Given the description of an element on the screen output the (x, y) to click on. 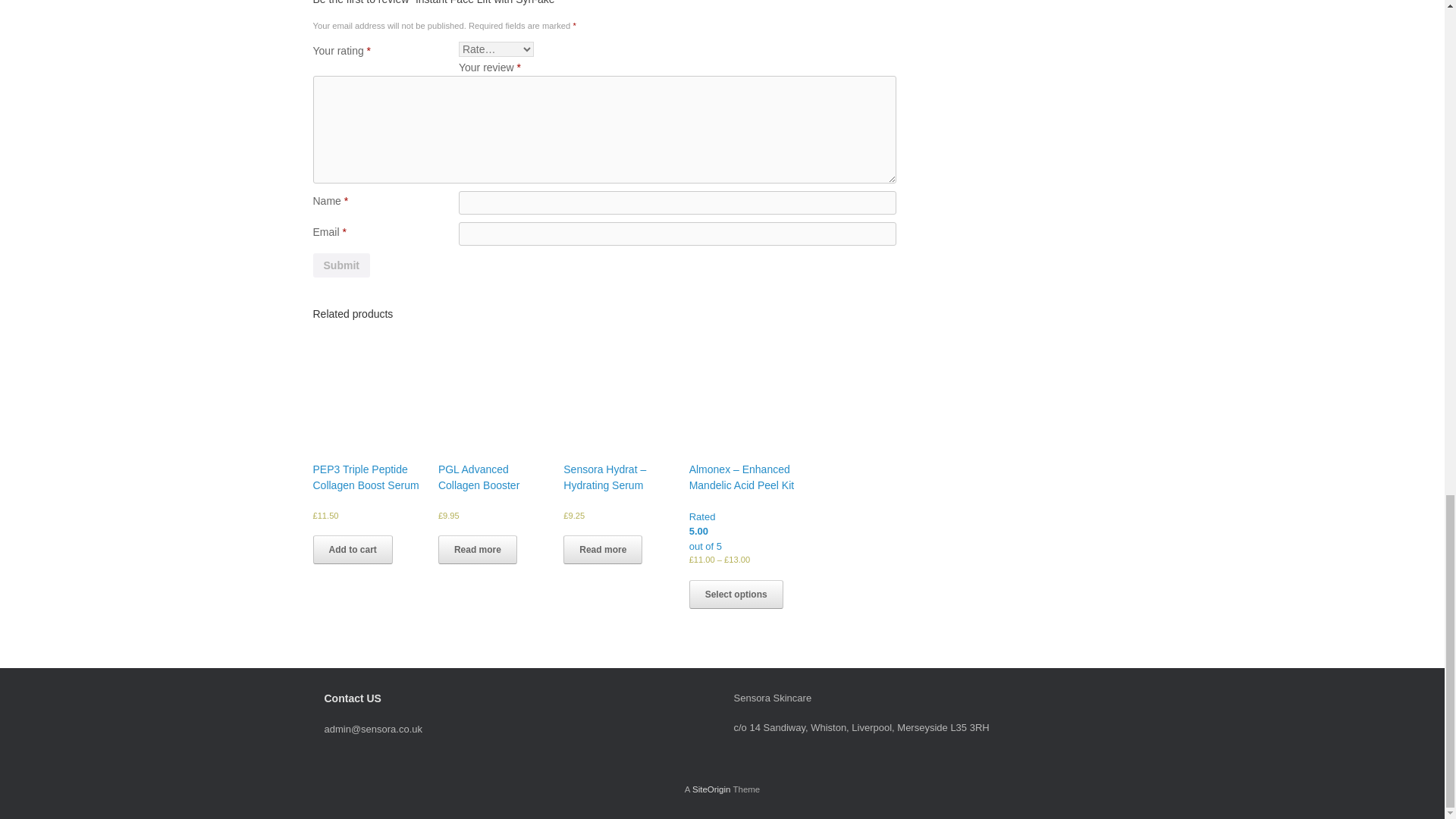
Submit (341, 264)
Select options (735, 593)
Submit (341, 264)
Add to cart (352, 549)
Read more (602, 549)
Read more (477, 549)
SiteOrigin (711, 788)
